Given the description of an element on the screen output the (x, y) to click on. 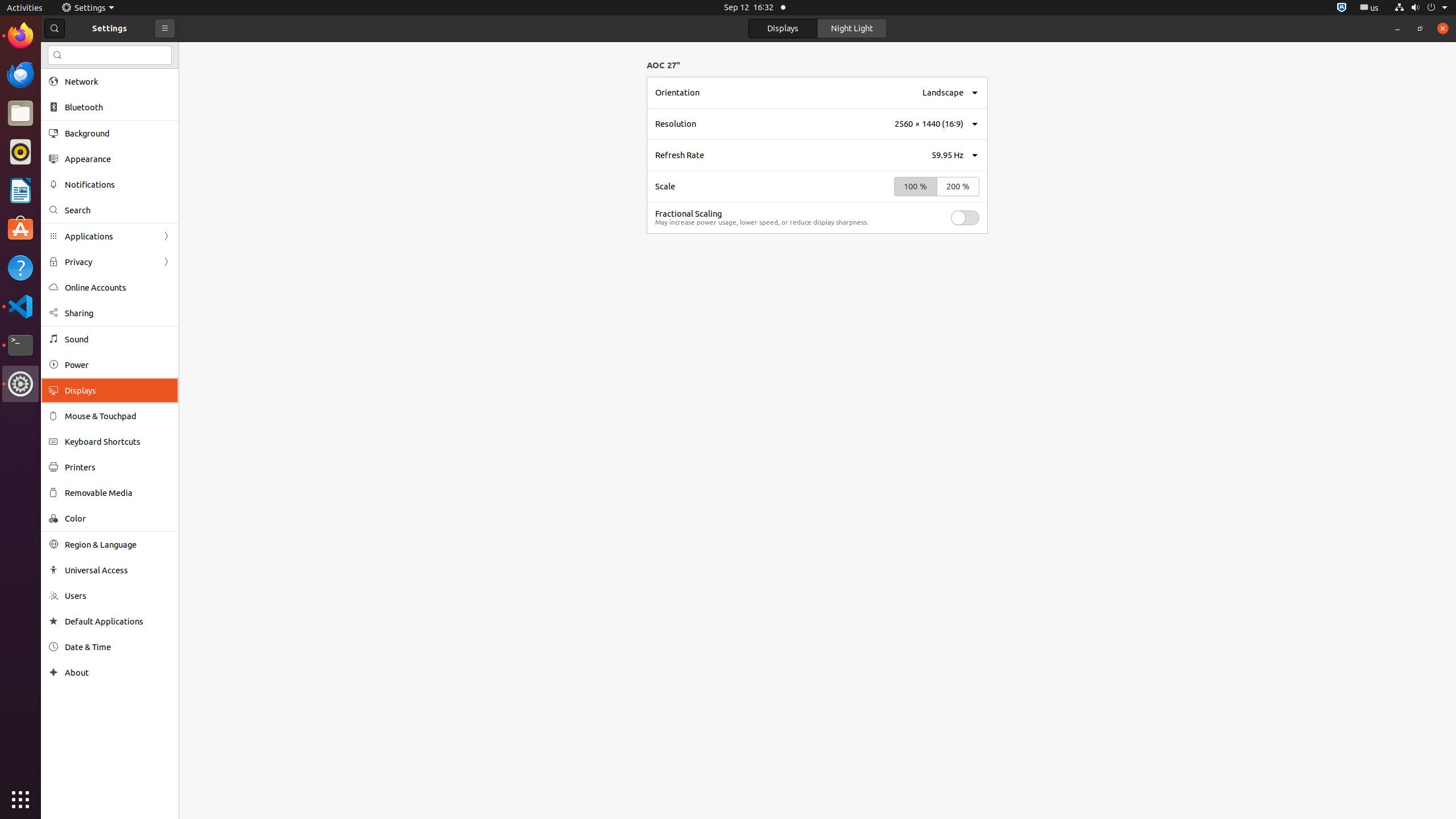
59.95 Hz Element type: label (947, 154)
Universal Access Element type: label (117, 570)
Forward Element type: icon (165, 261)
2560 × 1440 (16∶9) Element type: label (928, 123)
Applications Element type: label (109, 236)
